Given the description of an element on the screen output the (x, y) to click on. 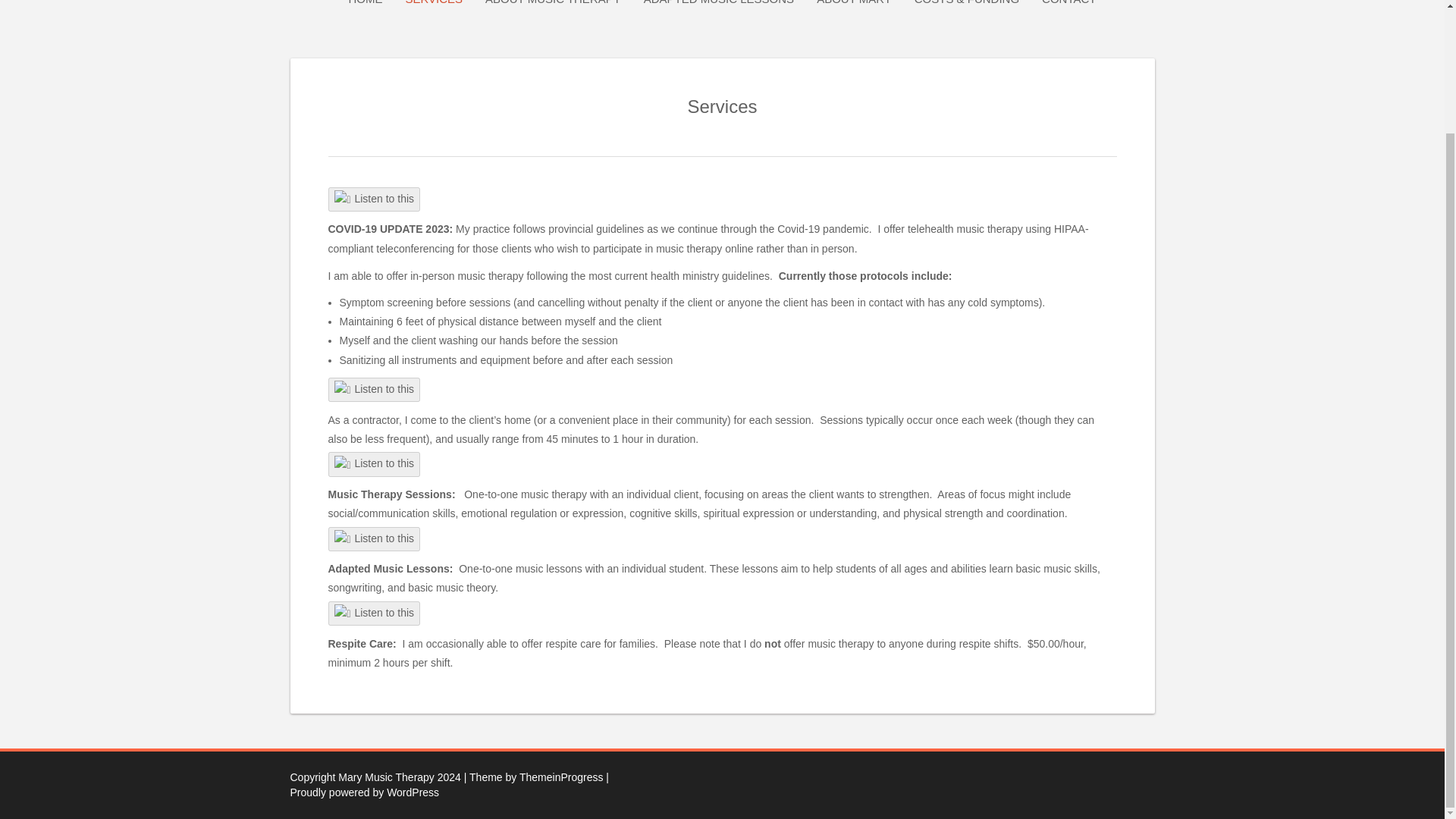
Listen to this (373, 613)
A Semantic Personal Publishing Platform (448, 784)
ABOUT MUSIC THERAPY (552, 3)
HOME (364, 3)
ABOUT MARY (853, 3)
Listen to this (373, 389)
ADAPTED MUSIC LESSONS (718, 3)
Listen to this (373, 538)
Listen to this (373, 199)
SERVICES (433, 3)
